Given the description of an element on the screen output the (x, y) to click on. 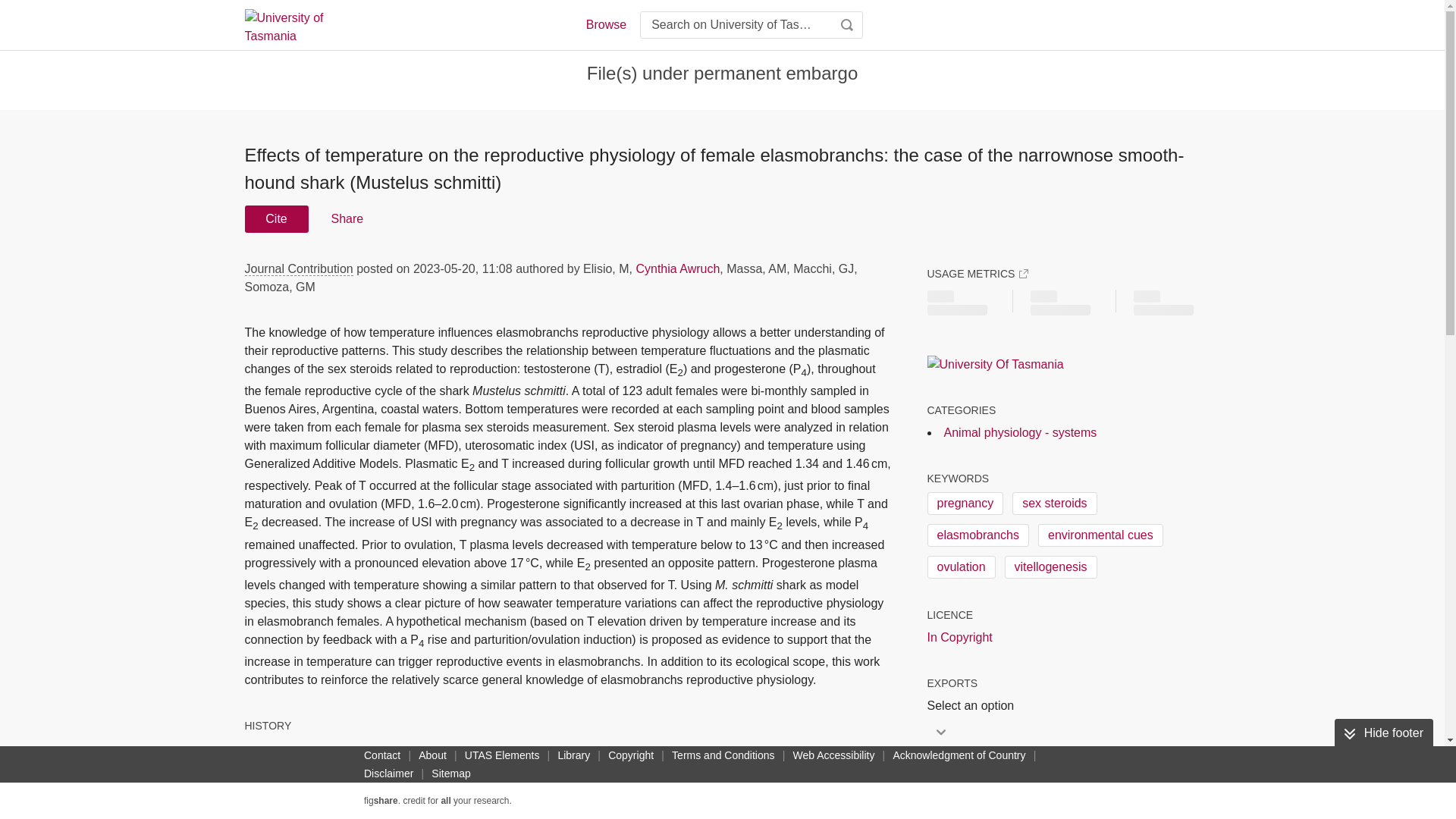
environmental cues (1100, 535)
UTAS Elements (502, 755)
Select an option (974, 705)
Animal physiology - systems (1019, 431)
pregnancy (964, 503)
Browse (605, 24)
vitellogenesis (1050, 567)
sex steroids (1053, 503)
ovulation (960, 567)
In Copyright (958, 637)
Hide footer (1383, 733)
Cynthia Awruch (676, 268)
Cite (275, 218)
Web Accessibility (834, 755)
USAGE METRICS (976, 273)
